Given the description of an element on the screen output the (x, y) to click on. 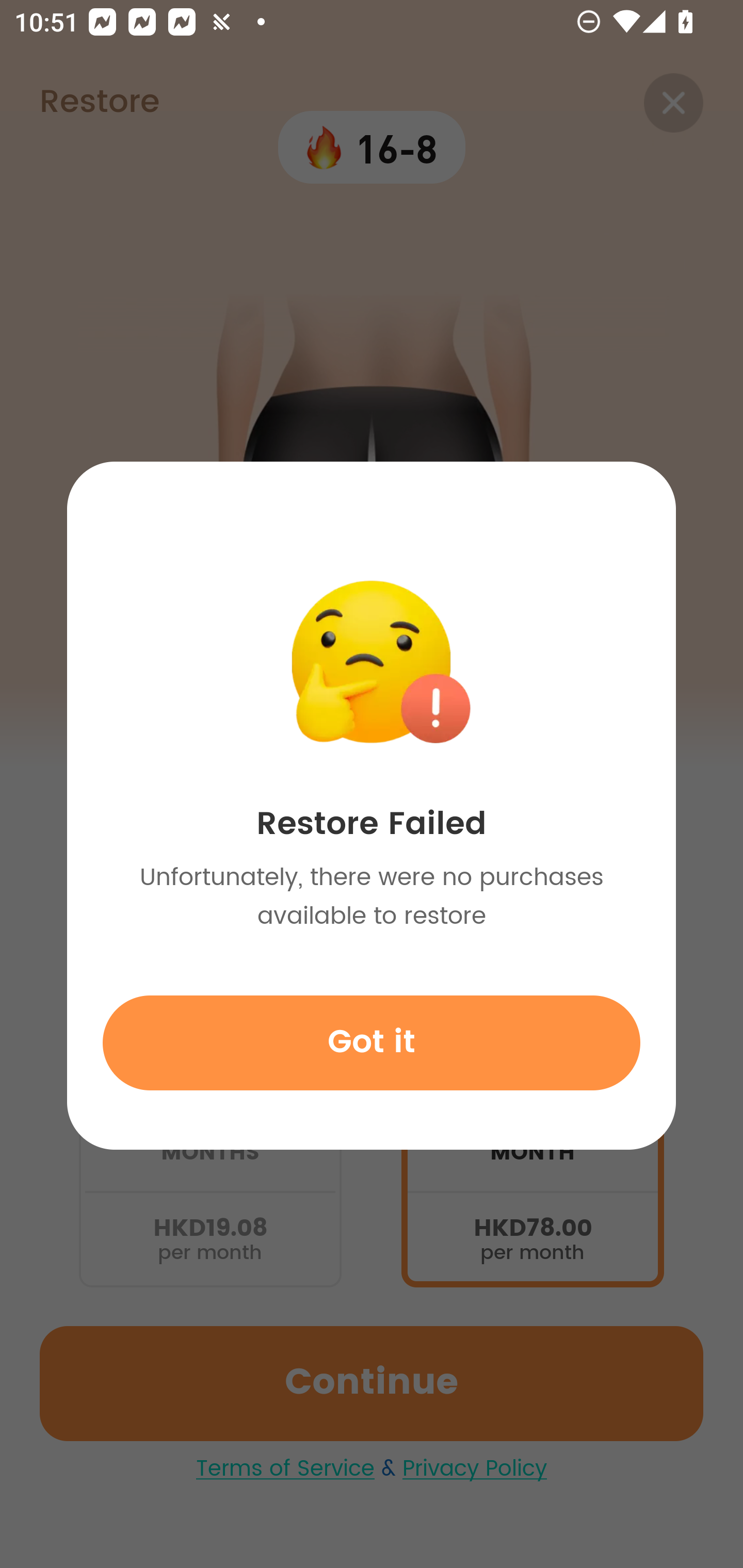
Got it (371, 1042)
